Given the description of an element on the screen output the (x, y) to click on. 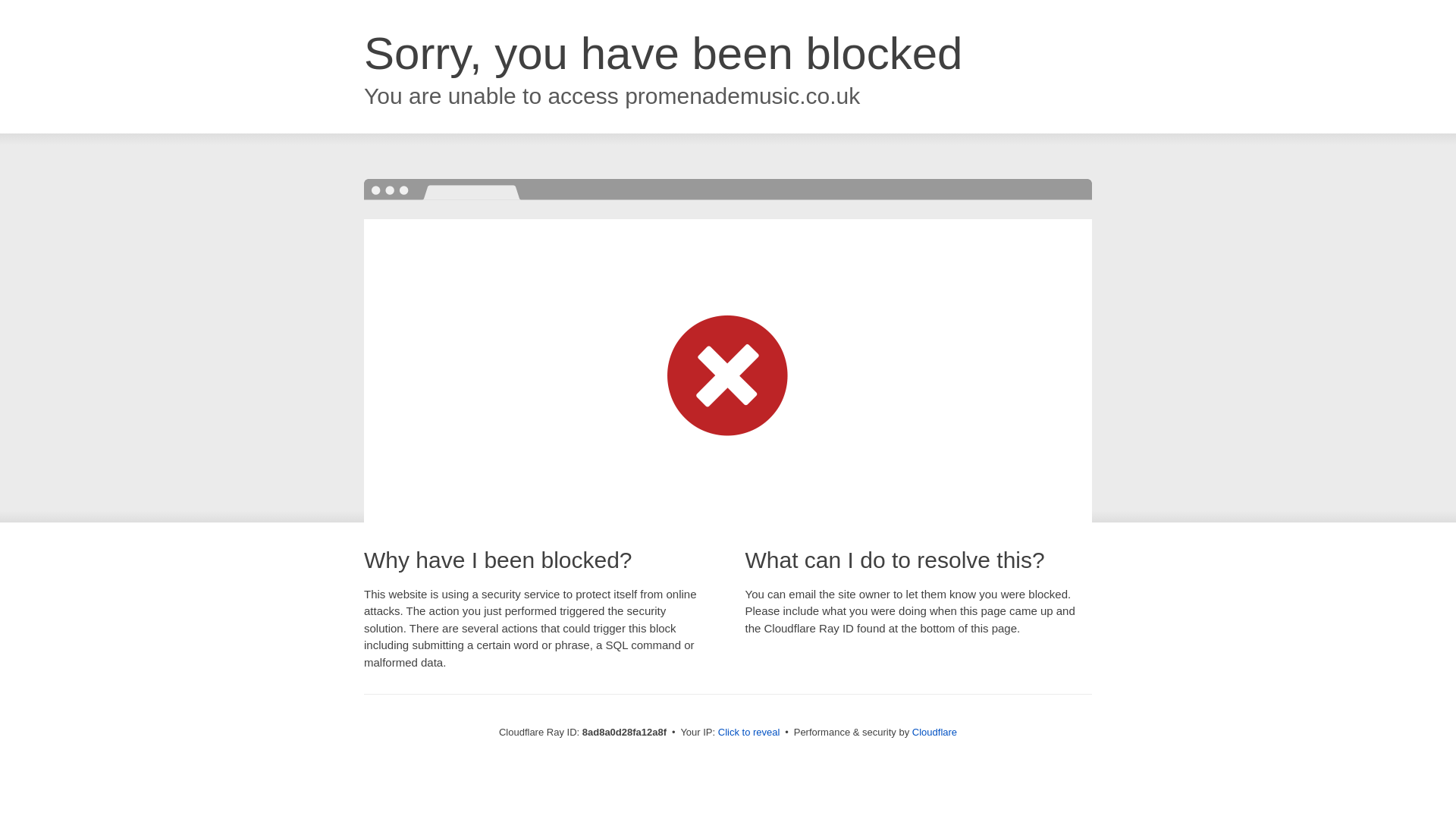
Click to reveal (748, 732)
Cloudflare (934, 731)
